Given the description of an element on the screen output the (x, y) to click on. 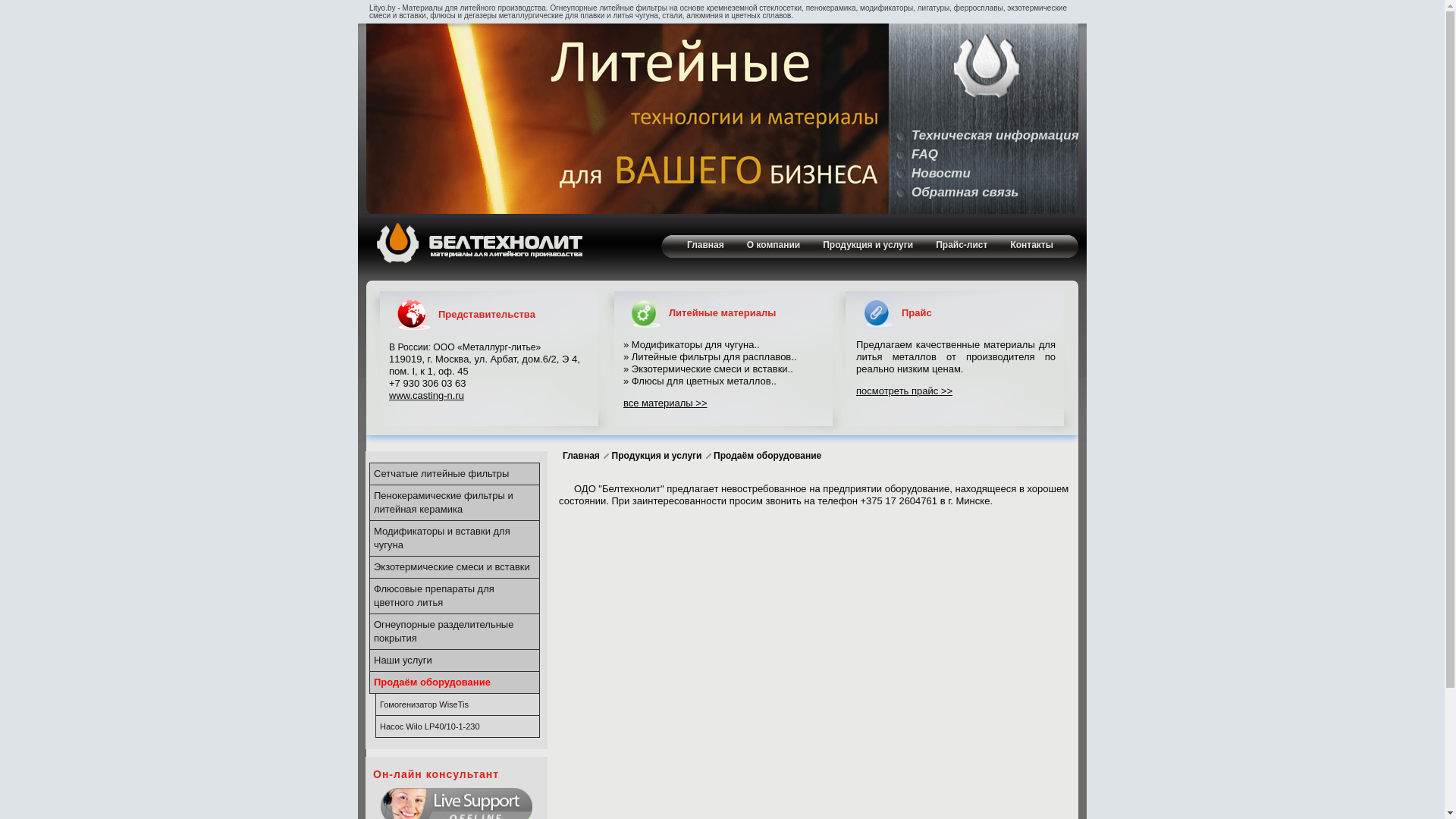
www.casting-n.ru Element type: text (426, 395)
FAQ Element type: text (924, 154)
lityo.by Element type: hover (622, 118)
